Given the description of an element on the screen output the (x, y) to click on. 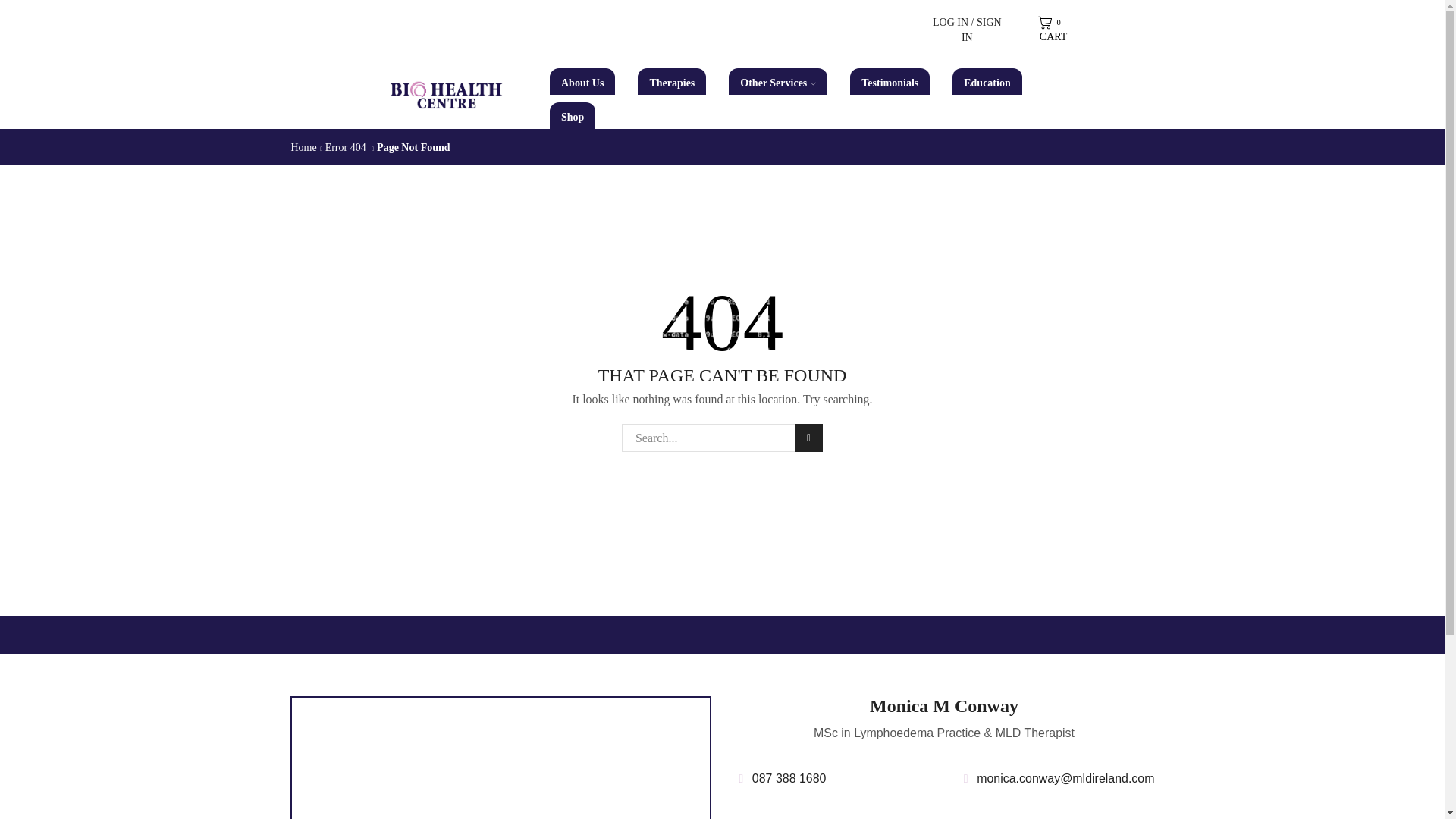
Therapies (671, 81)
Other Services (778, 81)
087 388 1680 (780, 778)
Home (303, 147)
Testimonials (890, 81)
Log in (890, 239)
SEARCH (808, 438)
Education (987, 81)
Shop (1051, 30)
About Us (572, 115)
